Given the description of an element on the screen output the (x, y) to click on. 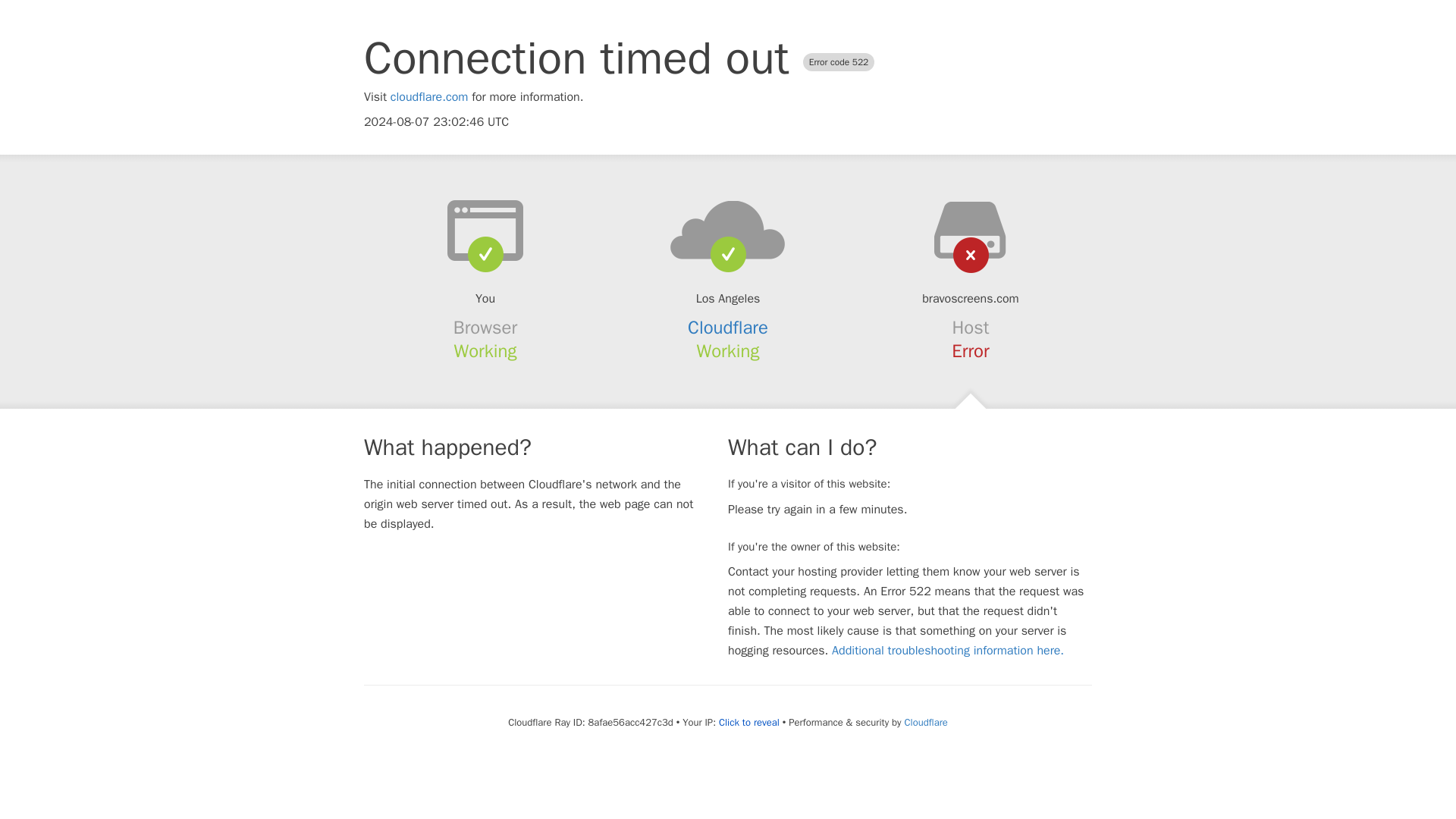
Cloudflare (925, 721)
cloudflare.com (429, 96)
Cloudflare (727, 327)
Additional troubleshooting information here. (947, 650)
Click to reveal (748, 722)
